Given the description of an element on the screen output the (x, y) to click on. 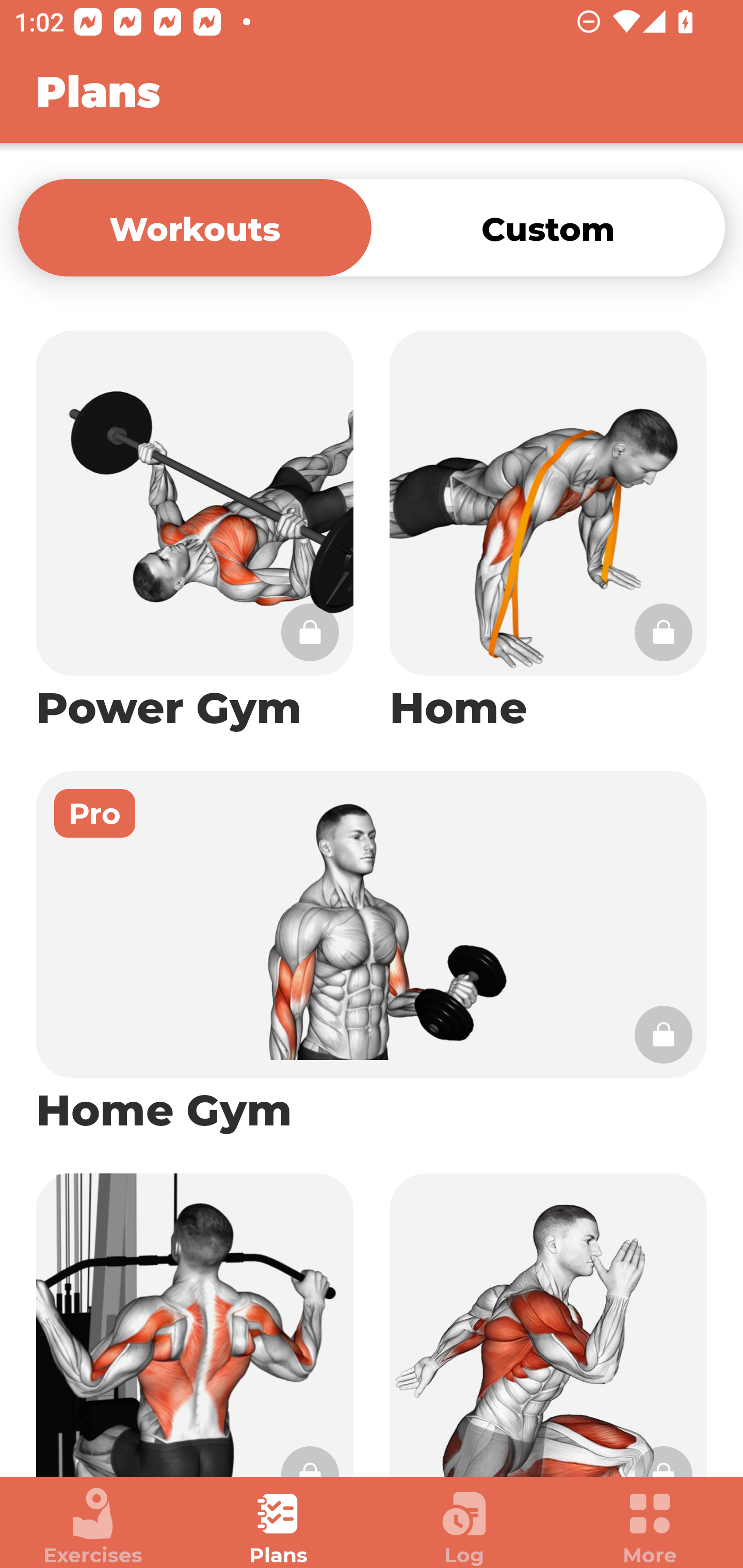
Workouts (194, 226)
Custom (548, 226)
Power Gym (194, 532)
Home (548, 532)
Pro Home Gym (371, 953)
Exercises (92, 1527)
Plans (278, 1527)
Log (464, 1527)
More (650, 1527)
